Given the description of an element on the screen output the (x, y) to click on. 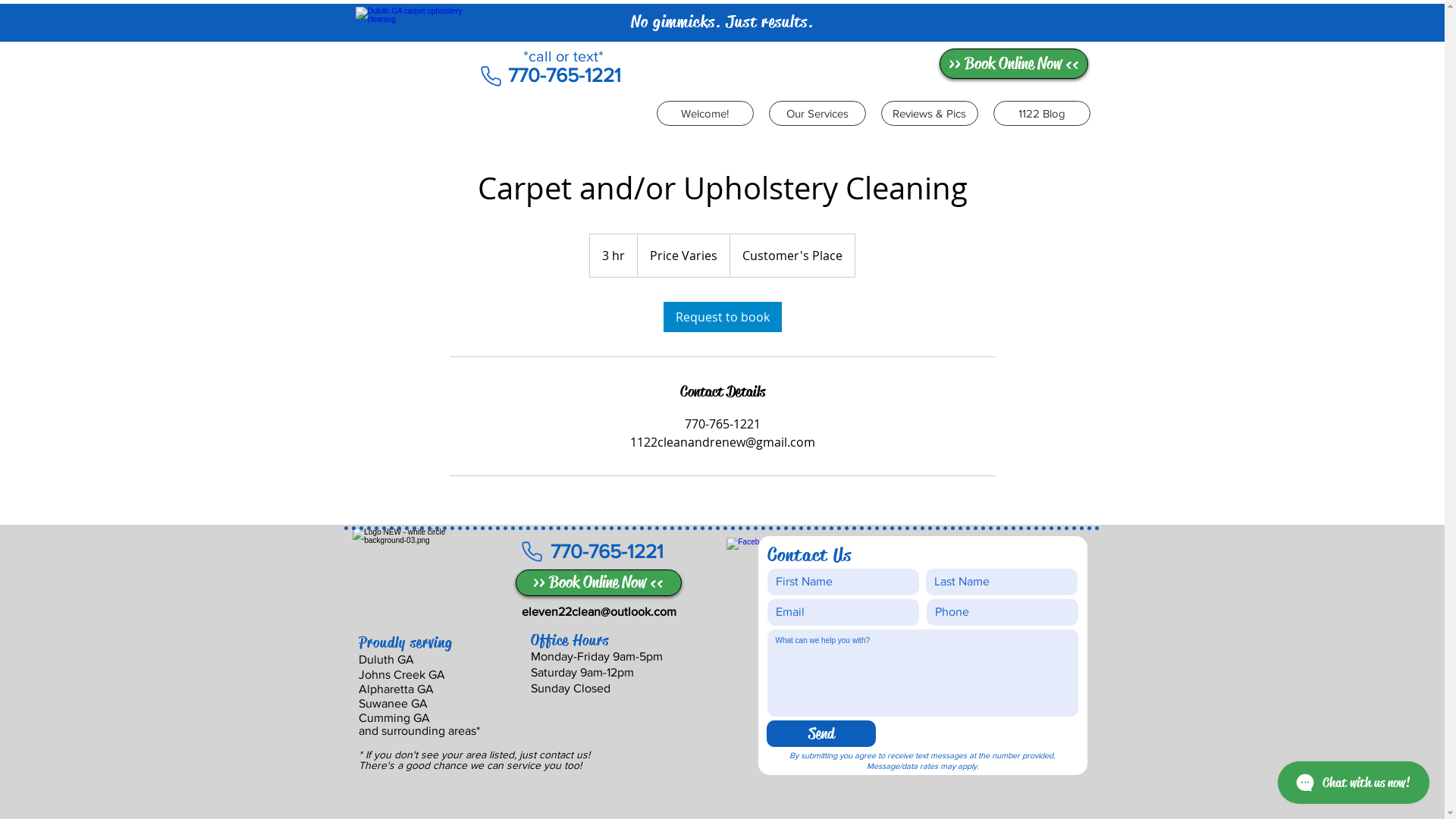
Request to book Element type: text (721, 316)
770-765-1221 Element type: text (606, 550)
eleven22clean@outlook.com Element type: text (598, 611)
Send Element type: text (820, 733)
>> Book Online Now << Element type: text (1012, 63)
Proudly serving Element type: text (404, 642)
Alpharetta GA Element type: text (395, 688)
770-765-1221 Element type: text (564, 74)
Johns Creek GA Element type: text (400, 674)
Our Services Element type: text (817, 112)
Reviews & Pics Element type: text (929, 112)
>> Book Online Now << Element type: text (598, 582)
Welcome! Element type: text (704, 112)
1122 Blog Element type: text (1041, 112)
